Given the description of an element on the screen output the (x, y) to click on. 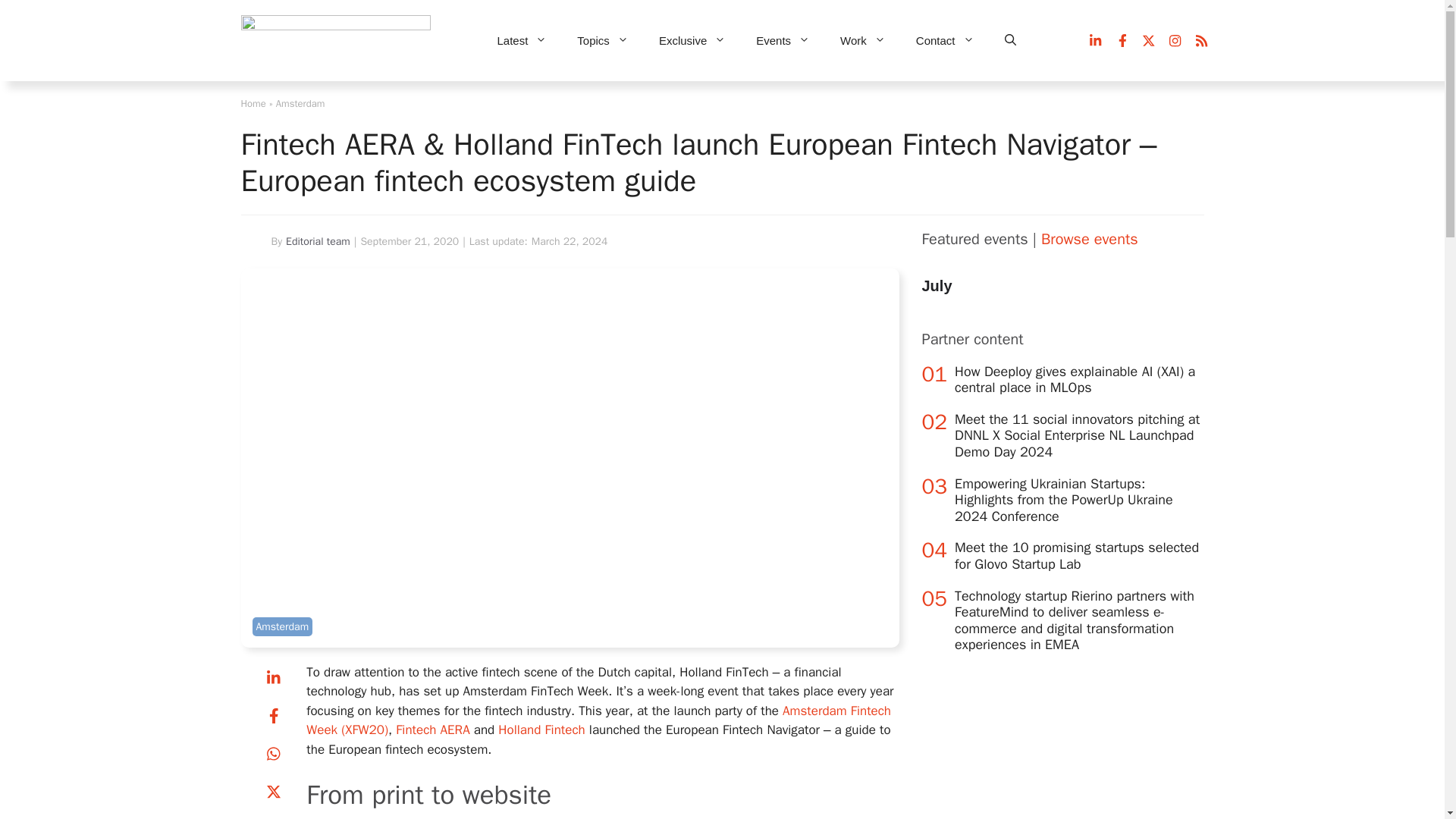
Latest (521, 40)
Events (783, 40)
Work (863, 40)
Topics (602, 40)
SC 10 year horizontal (335, 40)
Exclusive (692, 40)
